Given the description of an element on the screen output the (x, y) to click on. 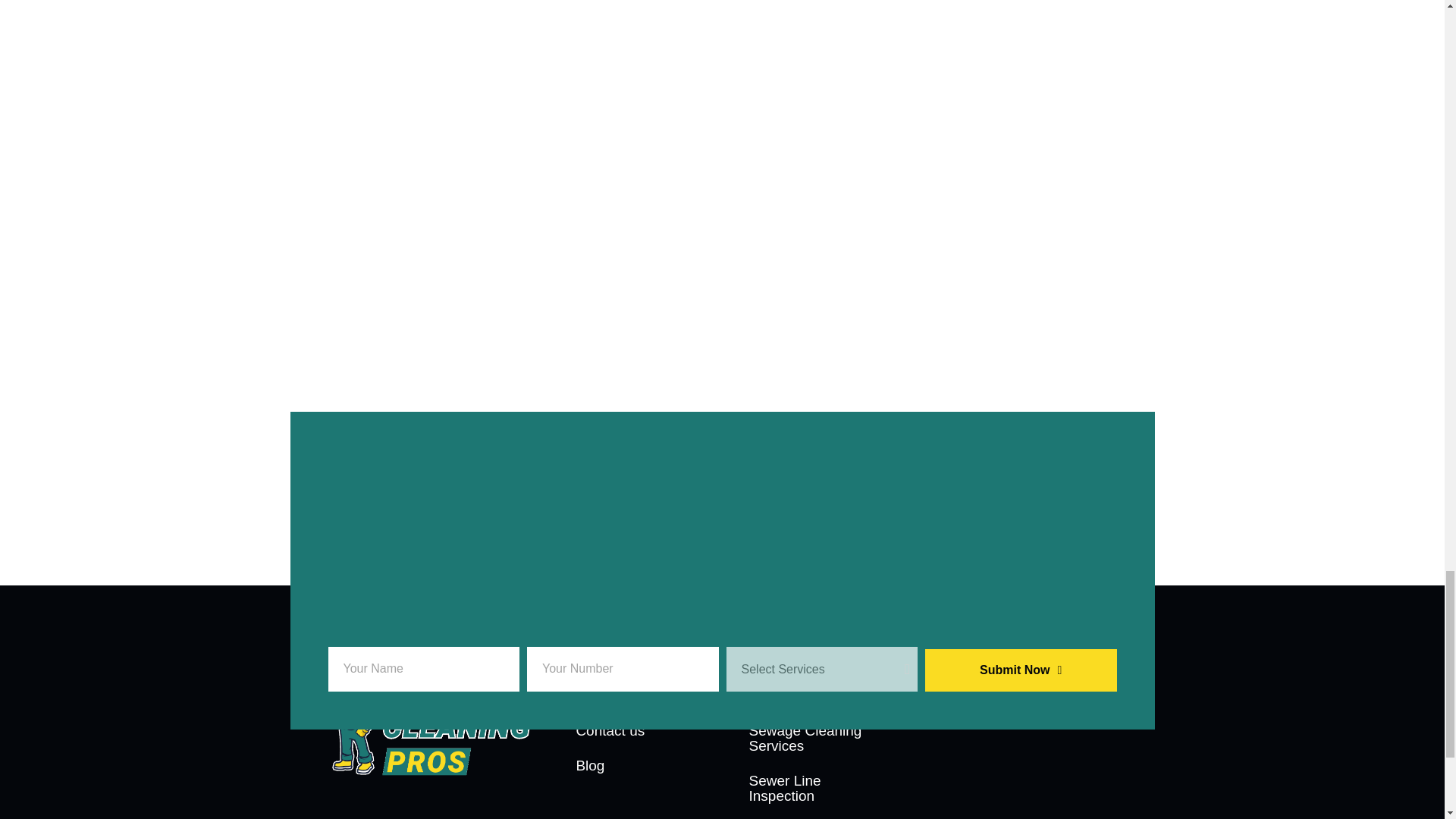
Blog (635, 765)
Contact us (635, 730)
Submit Now (1020, 670)
